Given the description of an element on the screen output the (x, y) to click on. 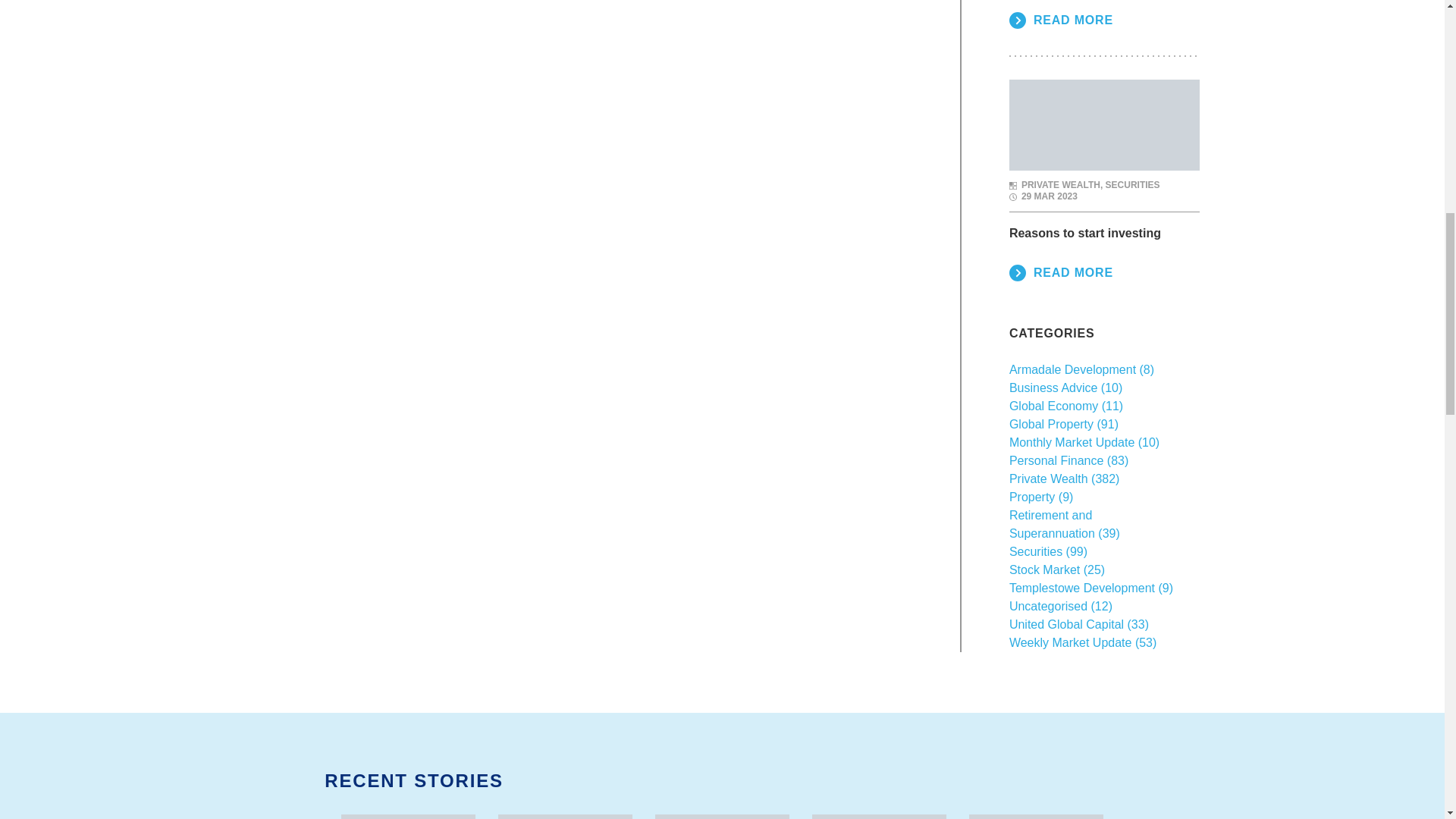
READ MORE (1061, 20)
READ MORE (1061, 272)
